Given the description of an element on the screen output the (x, y) to click on. 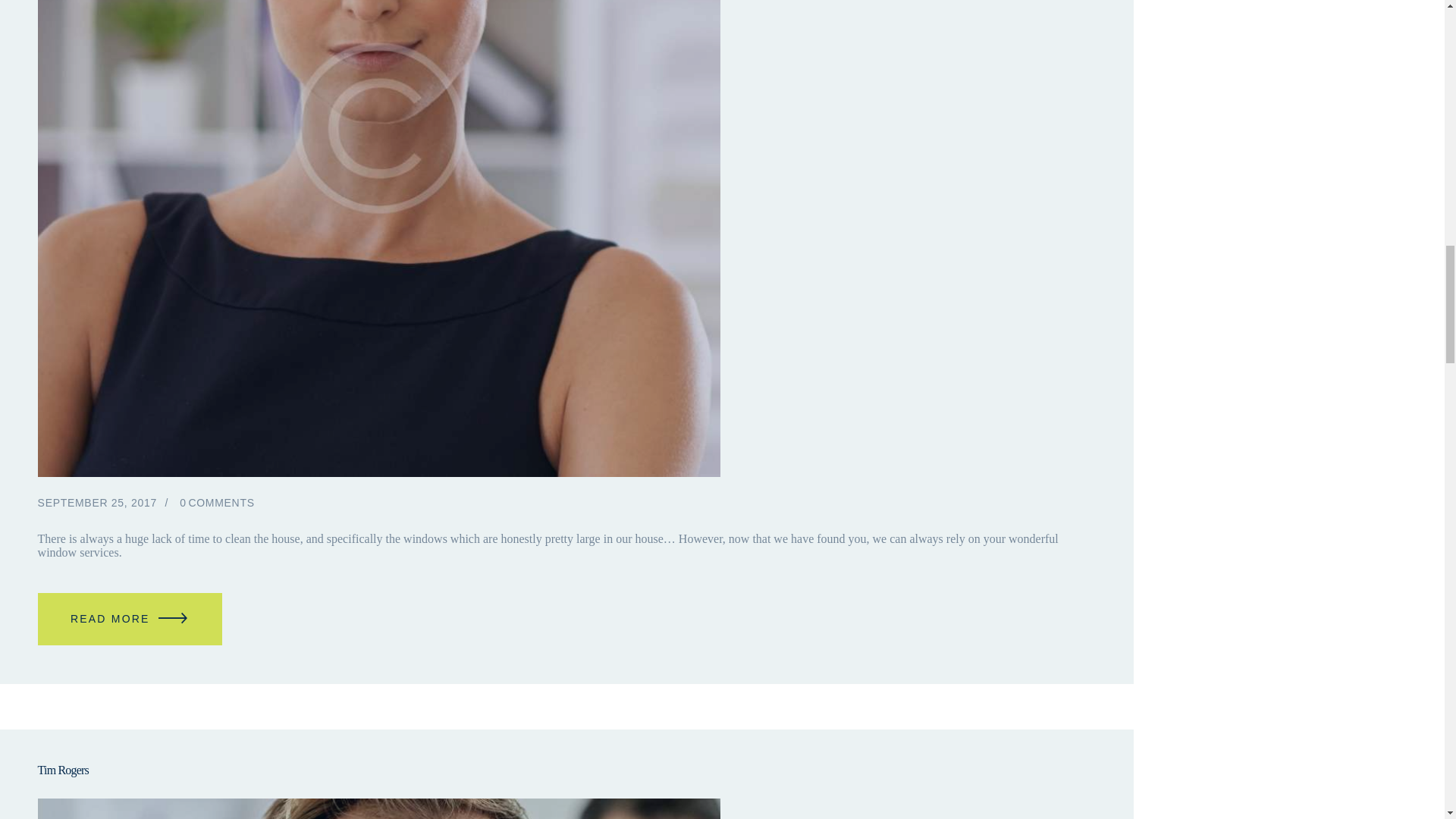
0COMMENTS (216, 501)
SEPTEMBER 25, 2017 (97, 501)
READ MORE (129, 618)
Tim Rogers (566, 770)
